Given the description of an element on the screen output the (x, y) to click on. 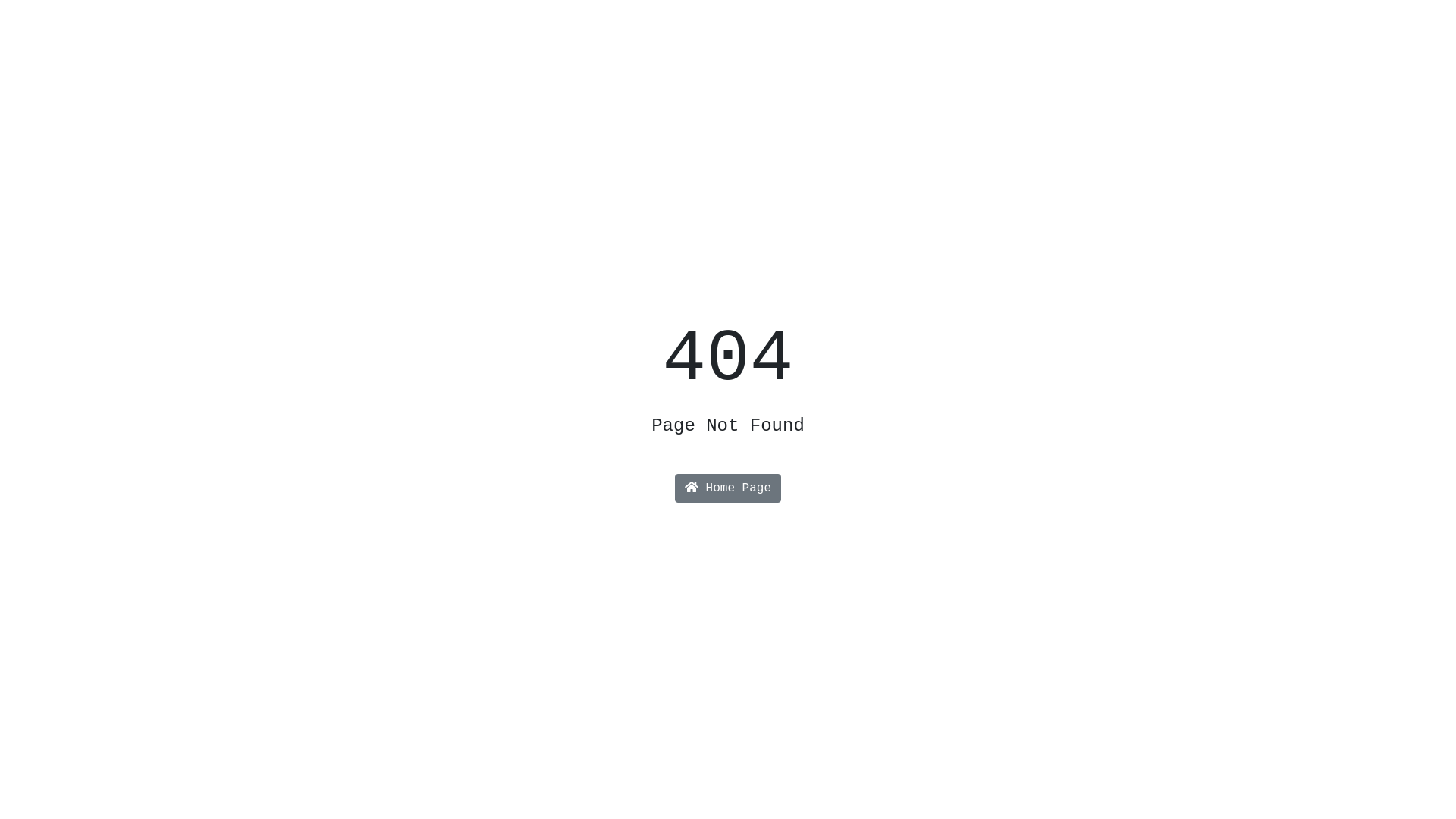
Home Page Element type: text (727, 487)
